Given the description of an element on the screen output the (x, y) to click on. 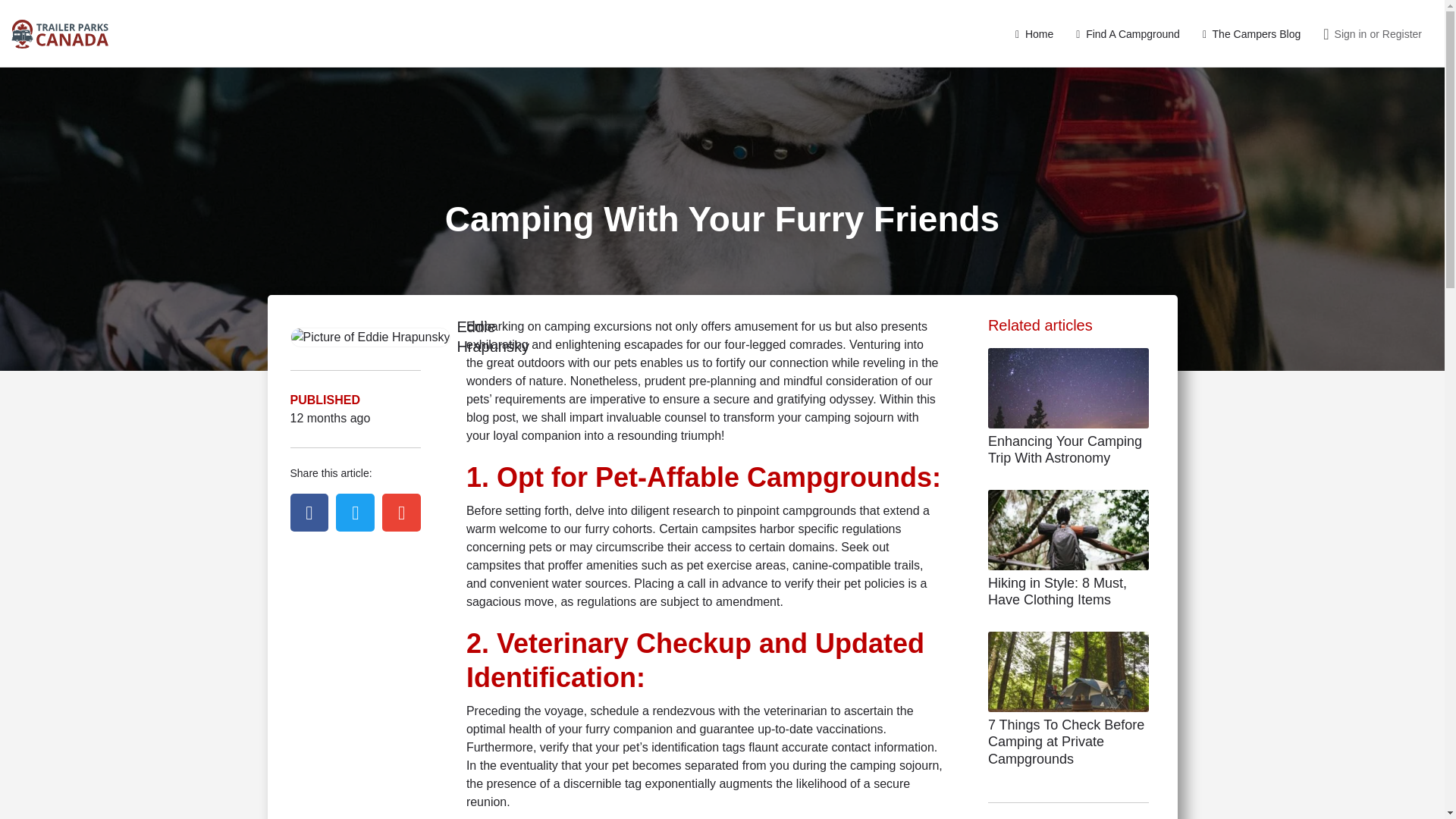
  Home (1033, 33)
  The Campers Blog (1251, 33)
Register (1401, 33)
Hiking in Style: 8 Must, Have Clothing Items (1057, 591)
7 Things To Check Before Camping at Private Campgrounds (1066, 741)
  Find A Campground (1127, 33)
Enhancing Your Camping Trip With Astronomy (1064, 450)
Sign in (1351, 33)
